Given the description of an element on the screen output the (x, y) to click on. 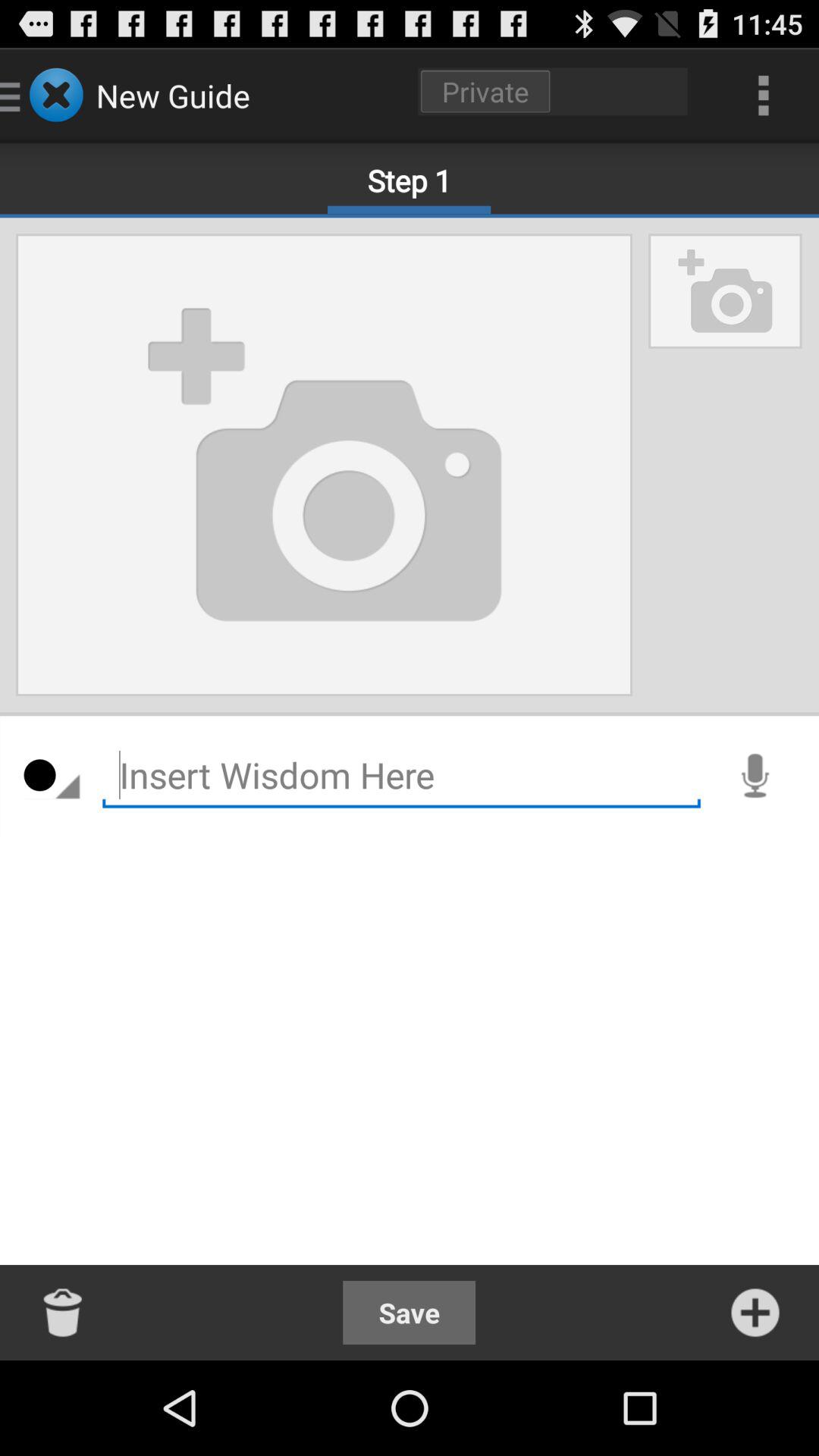
add text (401, 775)
